Given the description of an element on the screen output the (x, y) to click on. 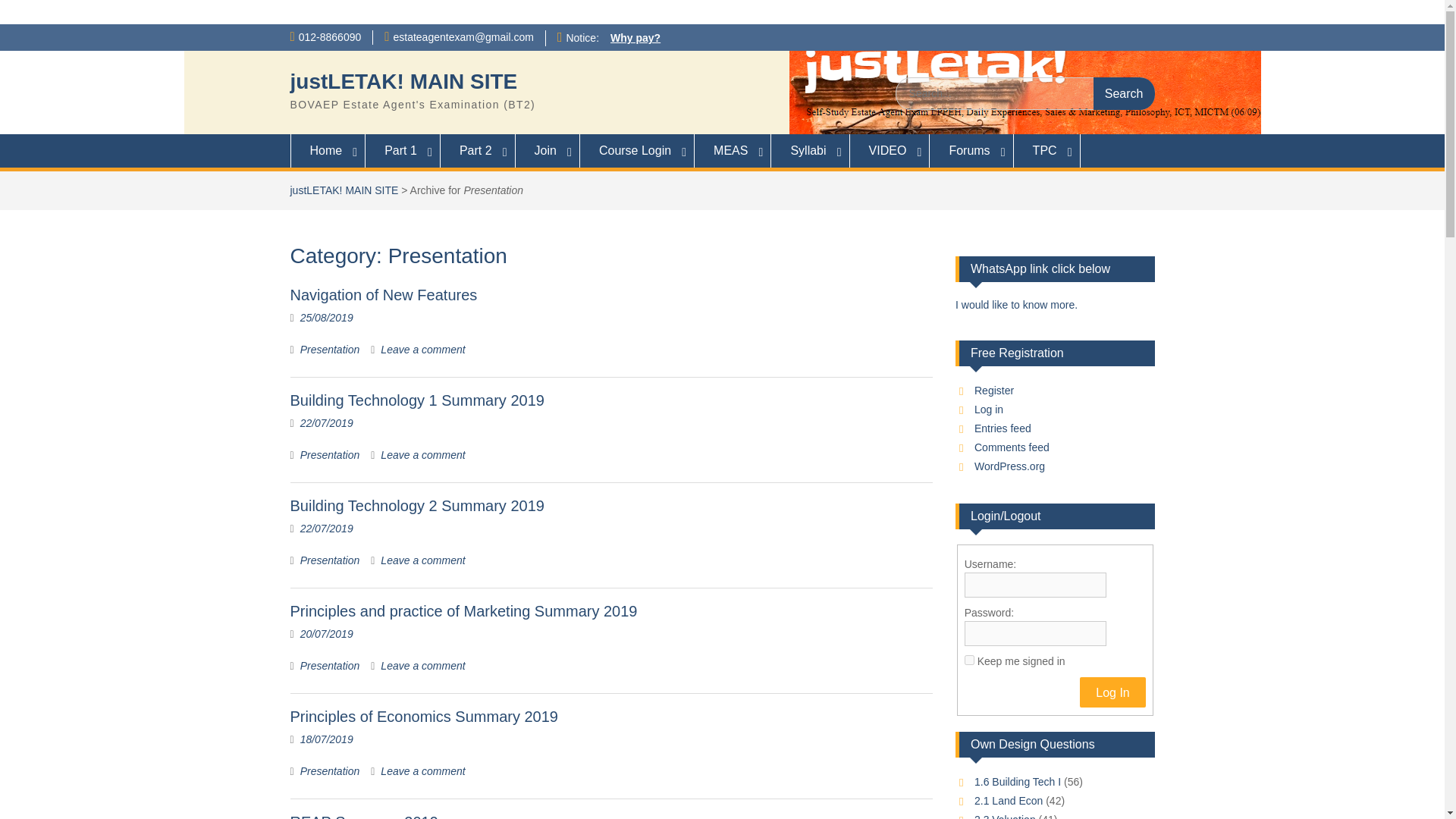
Search for: (1024, 92)
Search (1123, 92)
forever (968, 660)
Search (1123, 92)
012-8866090 (329, 37)
justLETAK! MAIN SITE (402, 81)
Home (327, 150)
Part 1 (403, 150)
Why pay? (635, 37)
Search (1123, 92)
